Given the description of an element on the screen output the (x, y) to click on. 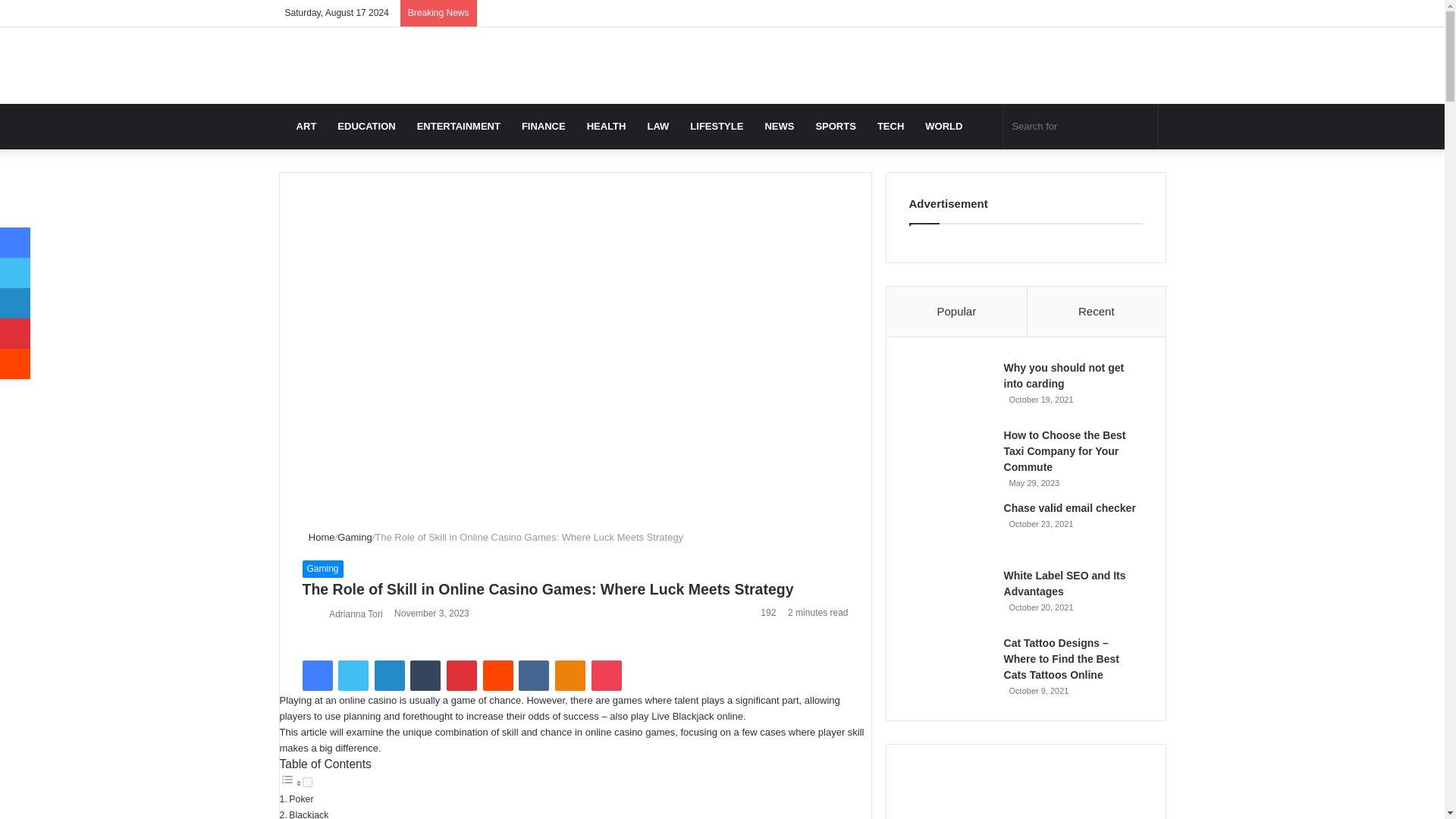
ART (306, 126)
Gaming (321, 568)
WORLD (943, 126)
on (306, 782)
LAW (657, 126)
Adrianna Tori (355, 613)
VKontakte (533, 675)
FINANCE (543, 126)
Facebook (316, 675)
Pinterest (461, 675)
